Given the description of an element on the screen output the (x, y) to click on. 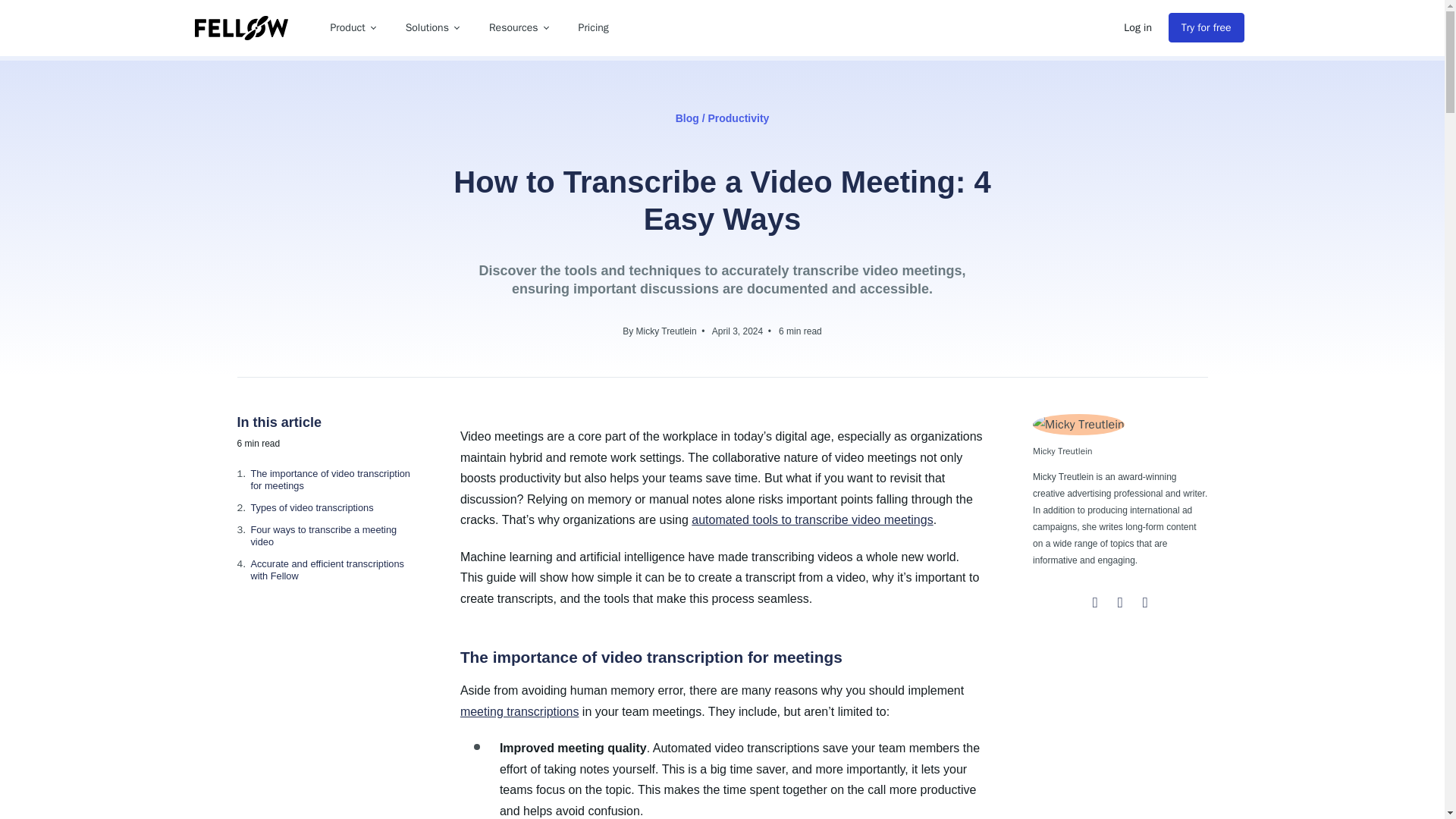
Solutions (431, 28)
Product (352, 28)
